Given the description of an element on the screen output the (x, y) to click on. 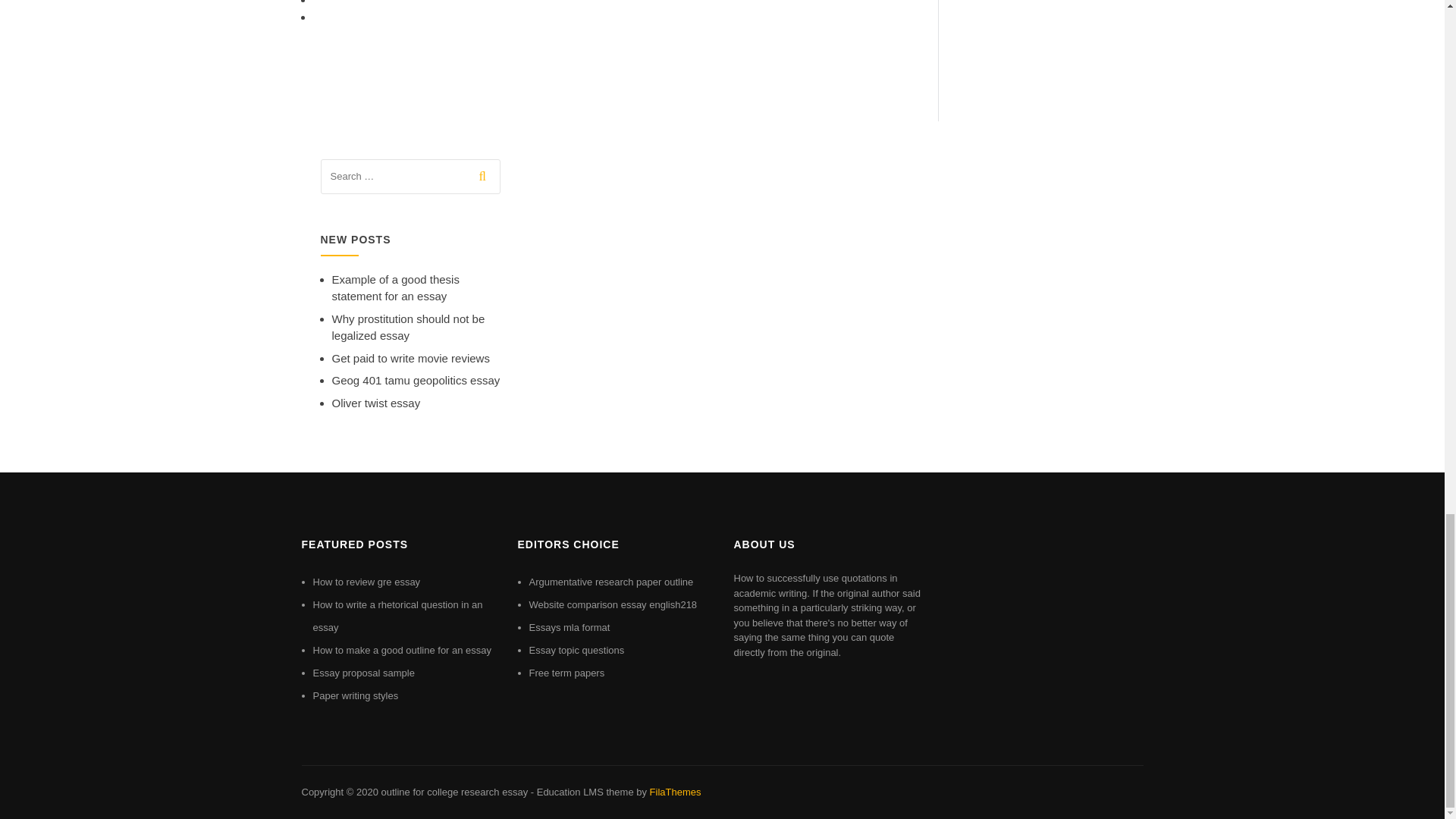
Essay proposal sample (363, 672)
Argumentative research paper outline (611, 582)
Paper writing styles (355, 695)
Free term papers (567, 672)
Essay topic questions (576, 650)
Get paid to write movie reviews (410, 358)
Example of a good thesis statement for an essay (395, 287)
Why prostitution should not be legalized essay (407, 327)
How to make a good outline for an essay (402, 650)
Essays mla format (569, 627)
How to write a rhetorical question in an essay (397, 615)
Oliver twist essay (375, 402)
How to review gre essay (366, 582)
outline for college research essay (453, 791)
Website comparison essay english218 (613, 604)
